Given the description of an element on the screen output the (x, y) to click on. 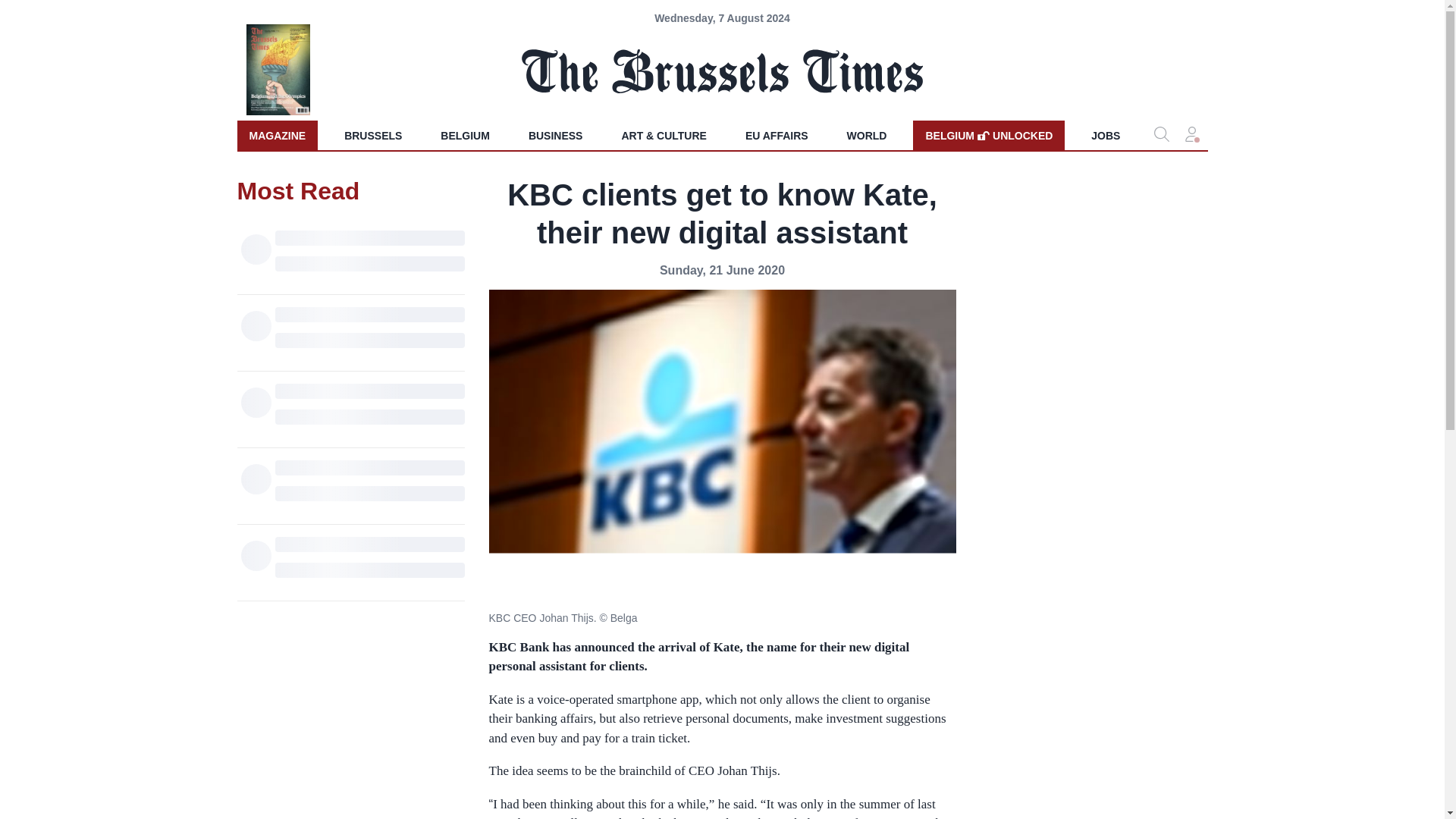
MAGAZINE (276, 135)
JOBS (1105, 135)
BUSINESS (555, 135)
WORLD (988, 135)
EU AFFAIRS (866, 135)
BELGIUM (777, 135)
BRUSSELS (465, 135)
